Given the description of an element on the screen output the (x, y) to click on. 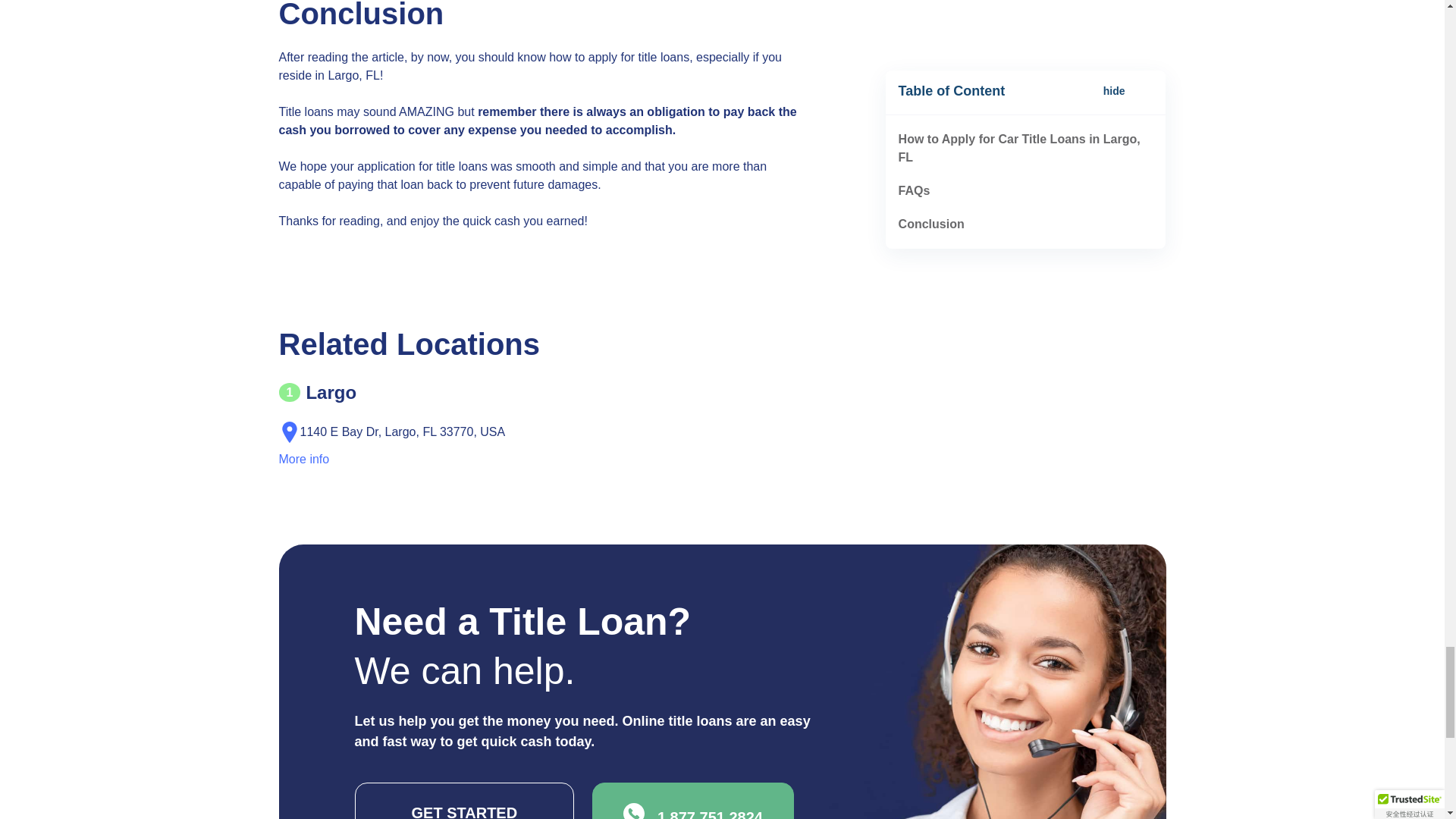
GET STARTED (465, 800)
1 877 751 2824 (692, 800)
More info (304, 459)
